Given the description of an element on the screen output the (x, y) to click on. 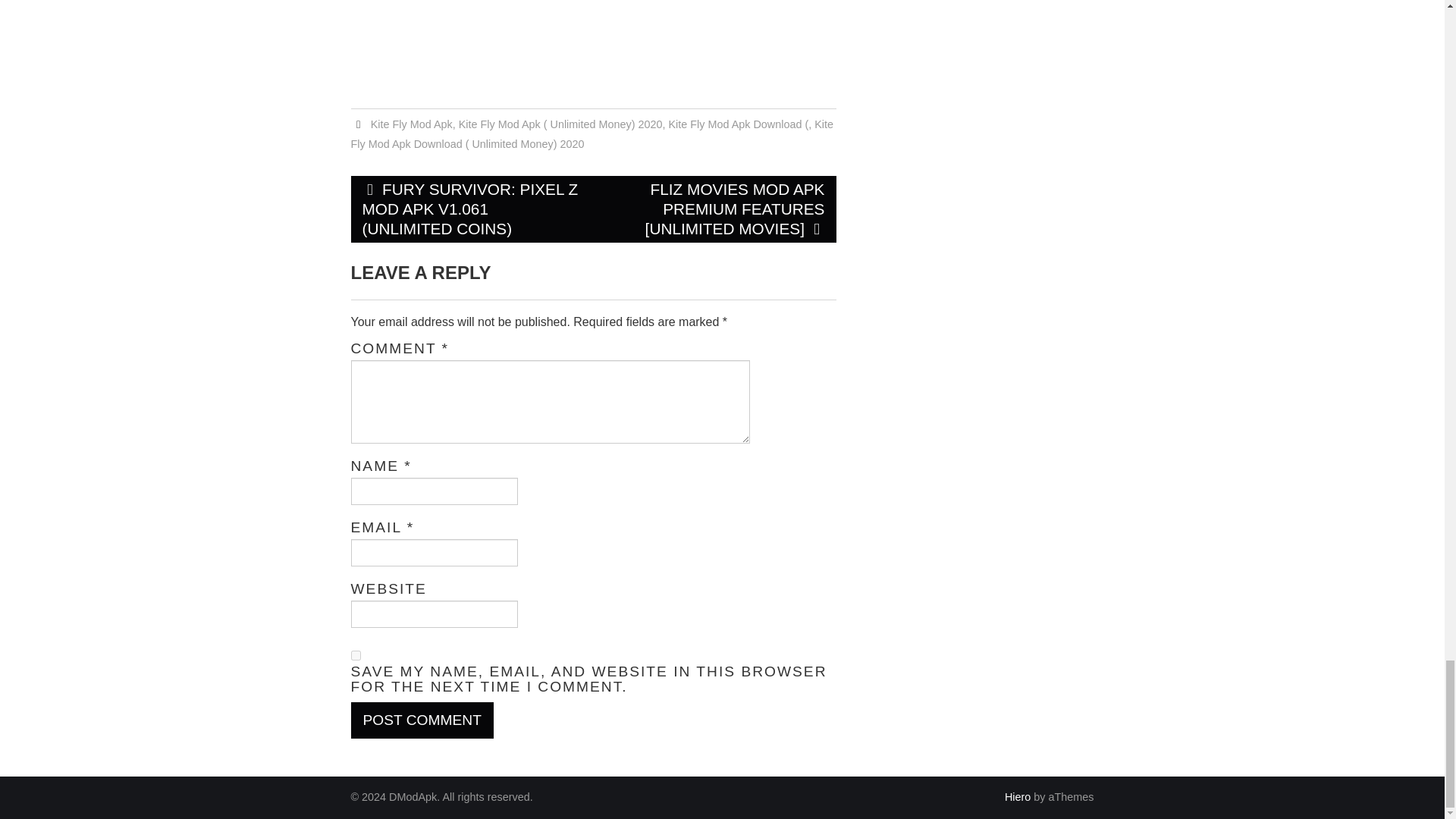
Post Comment (421, 719)
Hiero (1017, 797)
Post Comment (421, 719)
Kite Fly Mod Apk (411, 123)
yes (354, 655)
